Given the description of an element on the screen output the (x, y) to click on. 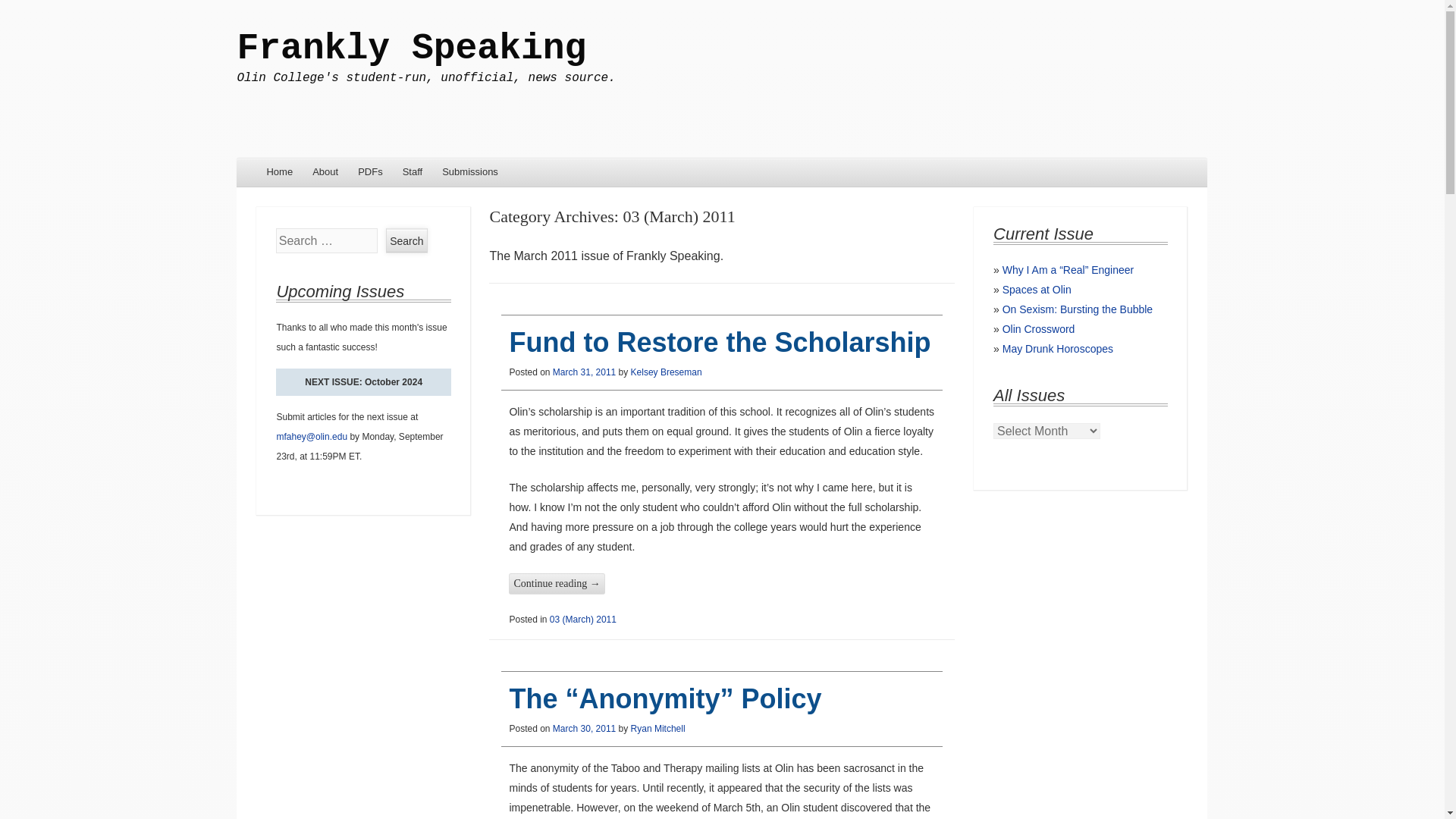
Frankly Speaking (410, 47)
Skip to content (278, 172)
Search (406, 240)
Kelsey Breseman (665, 371)
23:54 (584, 728)
Skip to content (278, 172)
March 31, 2011 (584, 371)
Frankly Speaking (410, 47)
Staff (412, 172)
PDFs (370, 172)
March 30, 2011 (584, 728)
Home (279, 172)
View all posts by Ryan Mitchell (657, 728)
23:55 (584, 371)
Submissions (470, 172)
